Given the description of an element on the screen output the (x, y) to click on. 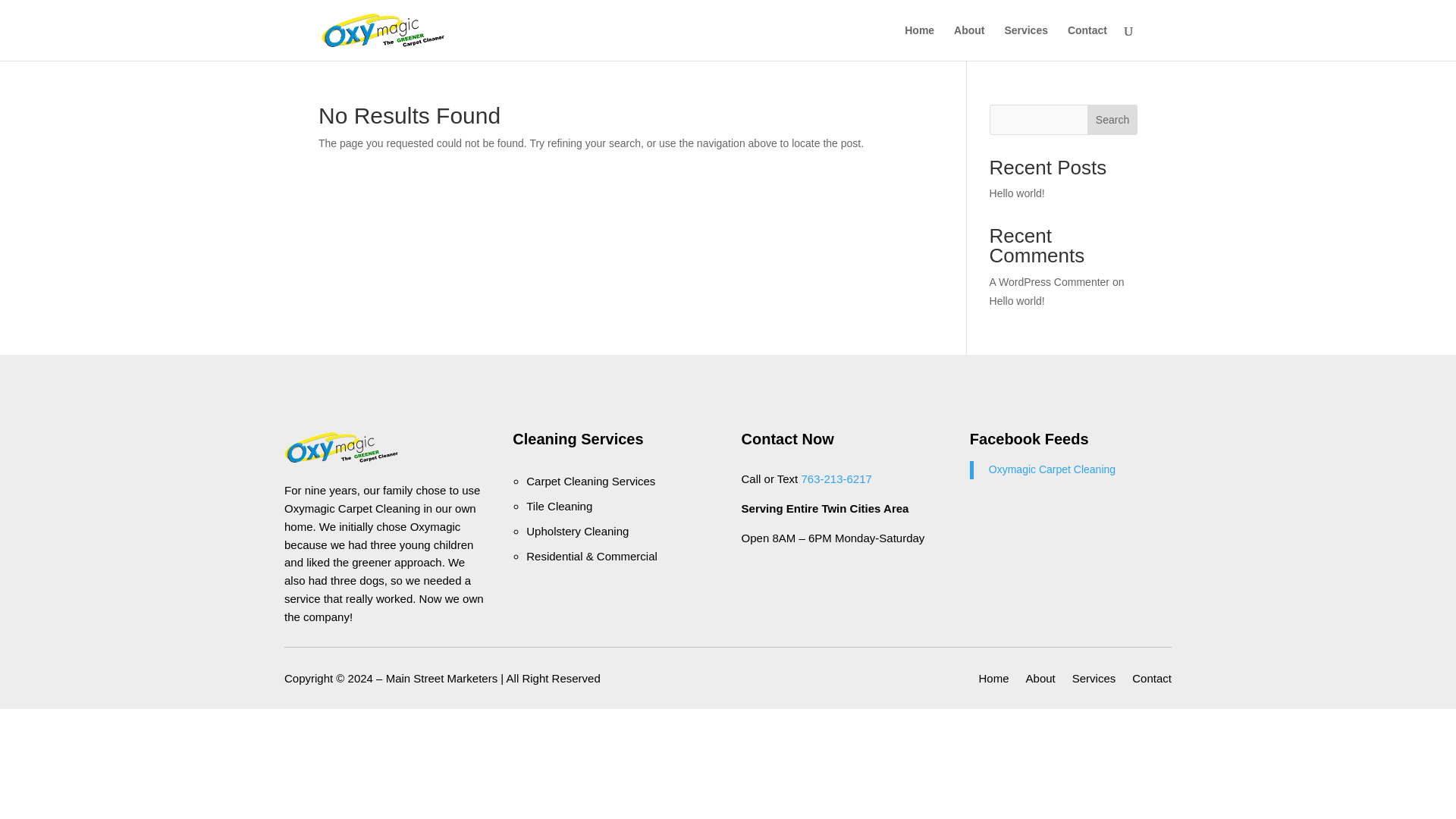
Carpet Cleaning Services (590, 481)
Contact (1152, 681)
Hello world! (1017, 193)
Services (1026, 42)
Home (993, 681)
Oxymagic Carpet Cleaning (1051, 469)
Contact (1086, 42)
763-213-6217 (835, 478)
Services (1093, 681)
Upholstery Cleaning (576, 530)
